Given the description of an element on the screen output the (x, y) to click on. 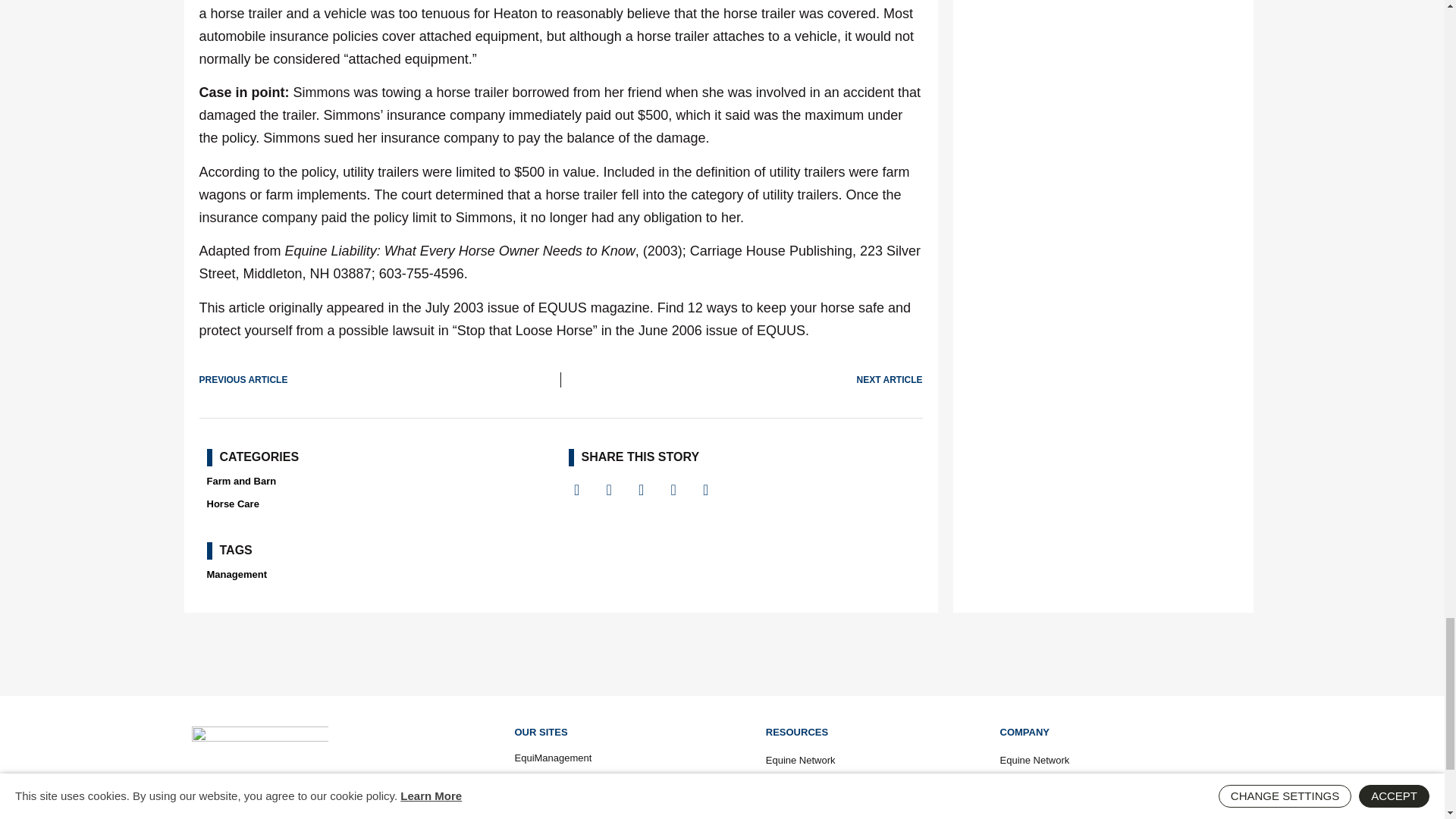
3rd party ad content (721, 653)
